Given the description of an element on the screen output the (x, y) to click on. 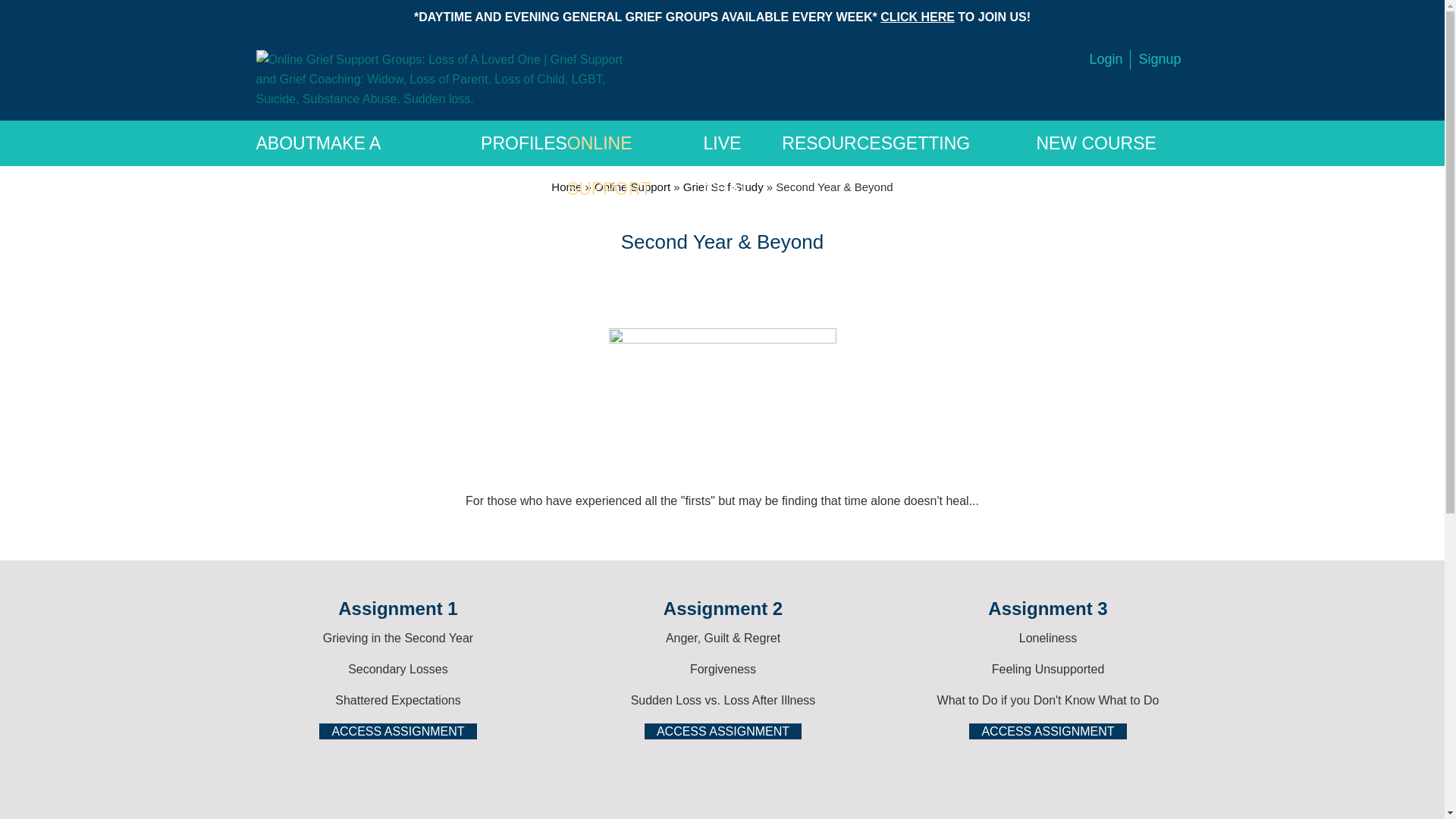
Signup (1159, 59)
LIVE CHAT (743, 143)
ONLINE SUPPORT (635, 143)
MAKE A CONNECTION (397, 143)
PROFILES (523, 143)
CLICK HERE (917, 16)
Login (1104, 59)
GETTING STARTED (963, 143)
ABOUT (285, 143)
RESOURCES (836, 143)
